Given the description of an element on the screen output the (x, y) to click on. 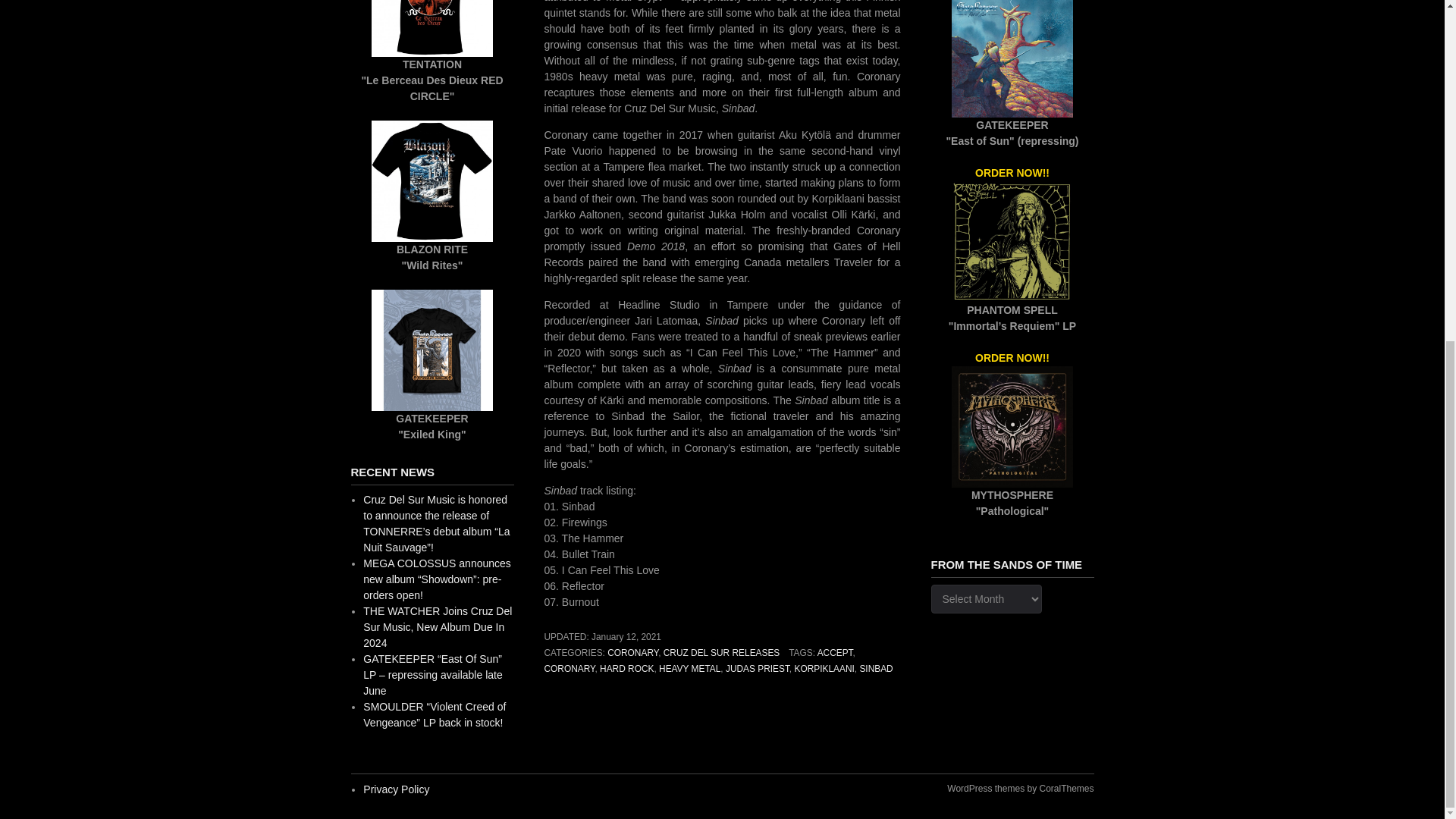
KORPIKLAANI (823, 668)
CORONARY (569, 668)
CRUZ DEL SUR RELEASES (721, 652)
CORONARY (632, 652)
January 12, 2021 (626, 636)
ACCEPT (834, 652)
SINBAD (875, 668)
JUDAS PRIEST (757, 668)
HEAVY METAL (689, 668)
HARD ROCK (626, 668)
THE WATCHER Joins Cruz Del Sur Music, New Album Due In 2024 (437, 627)
